Given the description of an element on the screen output the (x, y) to click on. 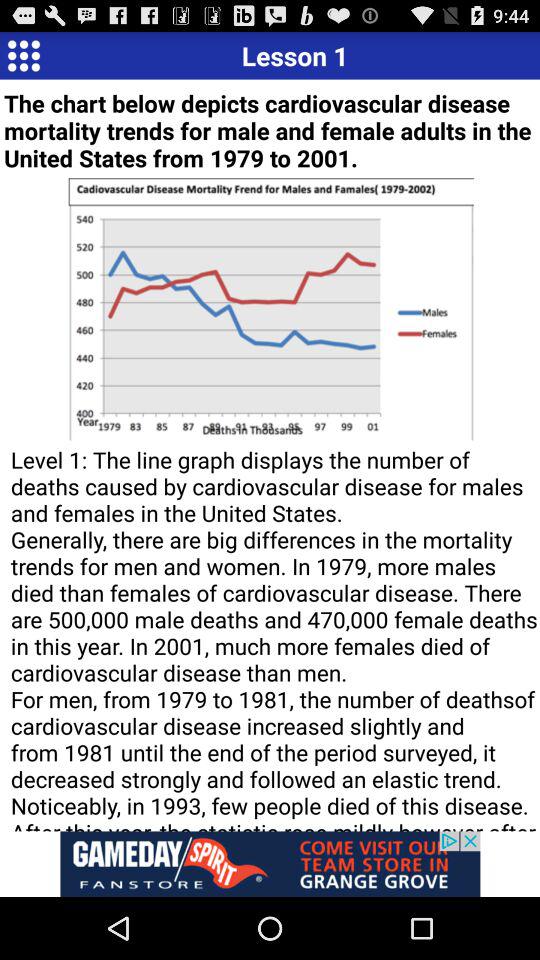
english listening and speaking (23, 55)
